Given the description of an element on the screen output the (x, y) to click on. 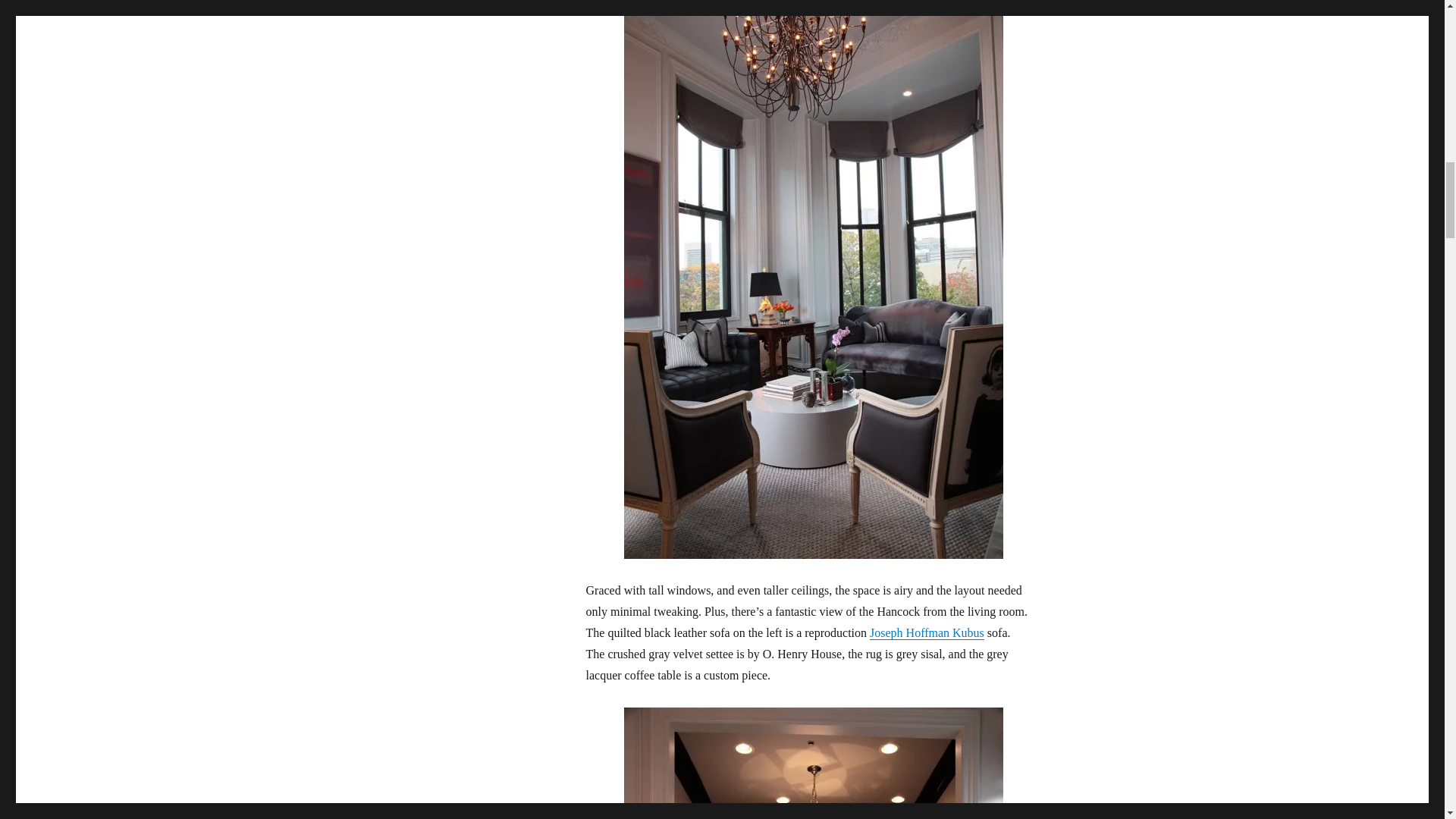
Joseph Hoffman Kubus (926, 632)
